Given the description of an element on the screen output the (x, y) to click on. 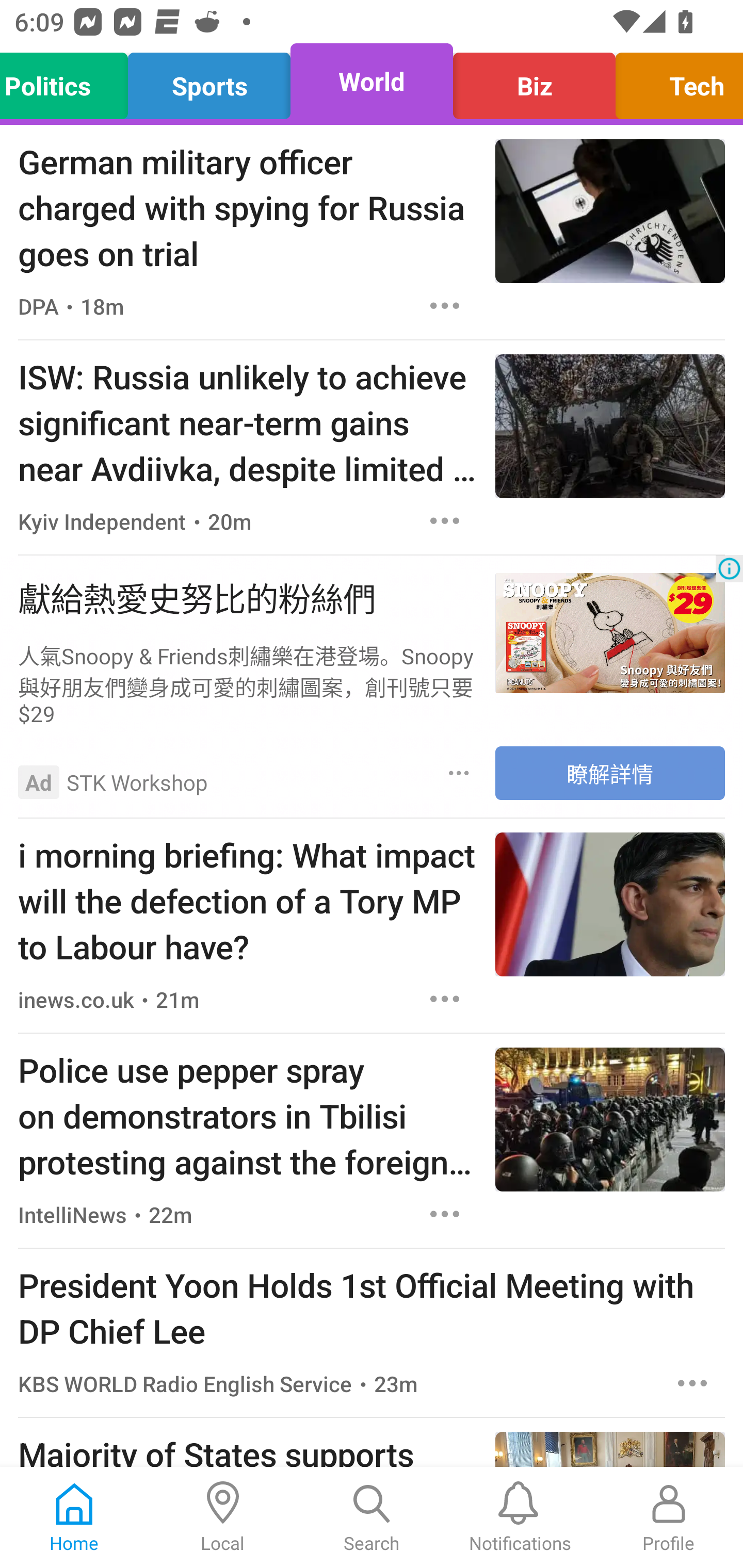
Politics (69, 81)
Sports (209, 81)
World (371, 81)
Biz (534, 81)
Tech (673, 81)
Options (444, 305)
Options (444, 520)
Ad Choices Icon (729, 568)
獻給熱愛史努比的粉絲們 (247, 596)
瞭解詳情 (610, 772)
Options (459, 773)
STK Workshop (137, 781)
Options (444, 998)
Options (444, 1214)
Options (692, 1382)
Local (222, 1517)
Search (371, 1517)
Notifications (519, 1517)
Profile (668, 1517)
